Given the description of an element on the screen output the (x, y) to click on. 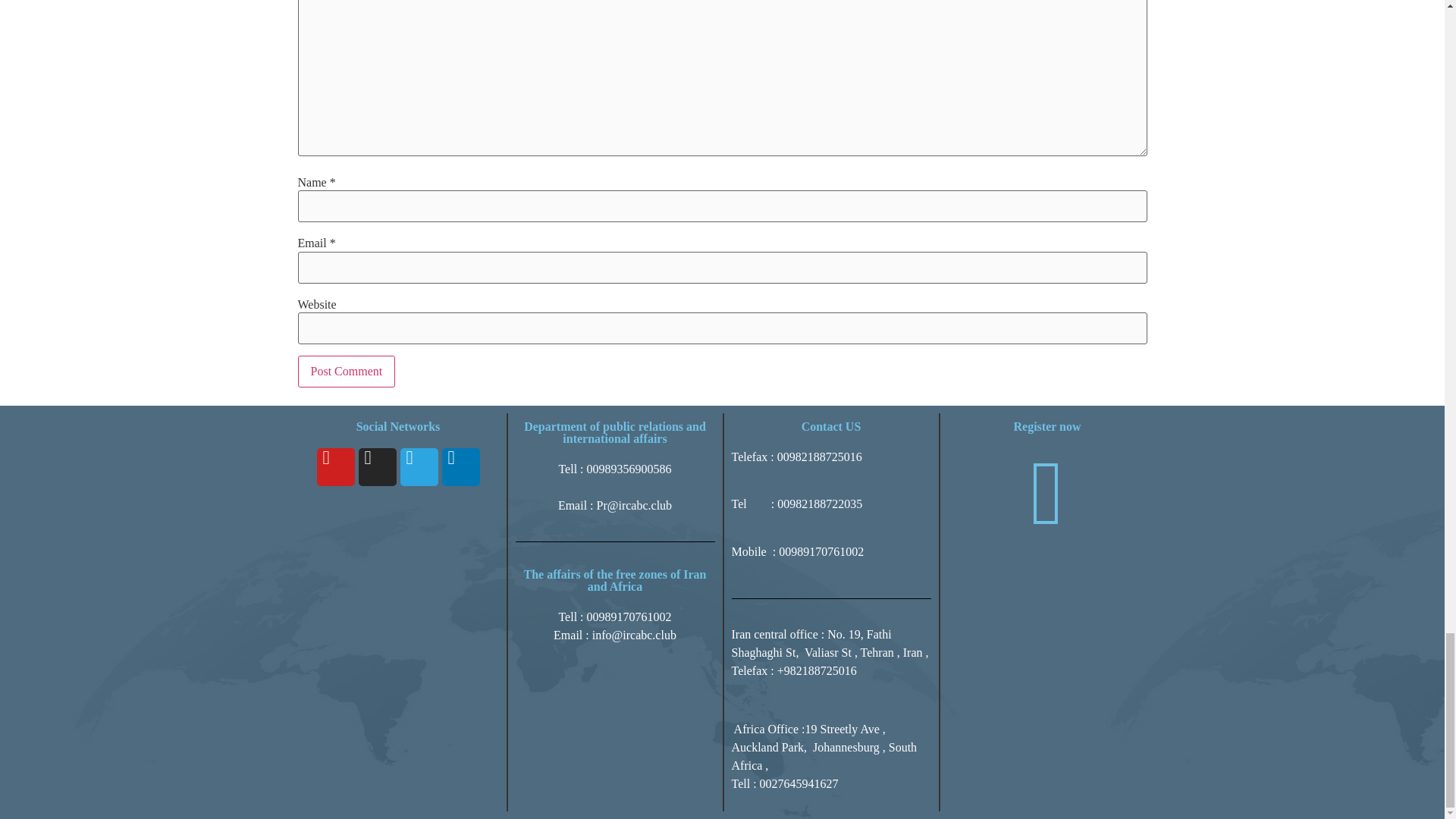
Post Comment (345, 371)
